Given the description of an element on the screen output the (x, y) to click on. 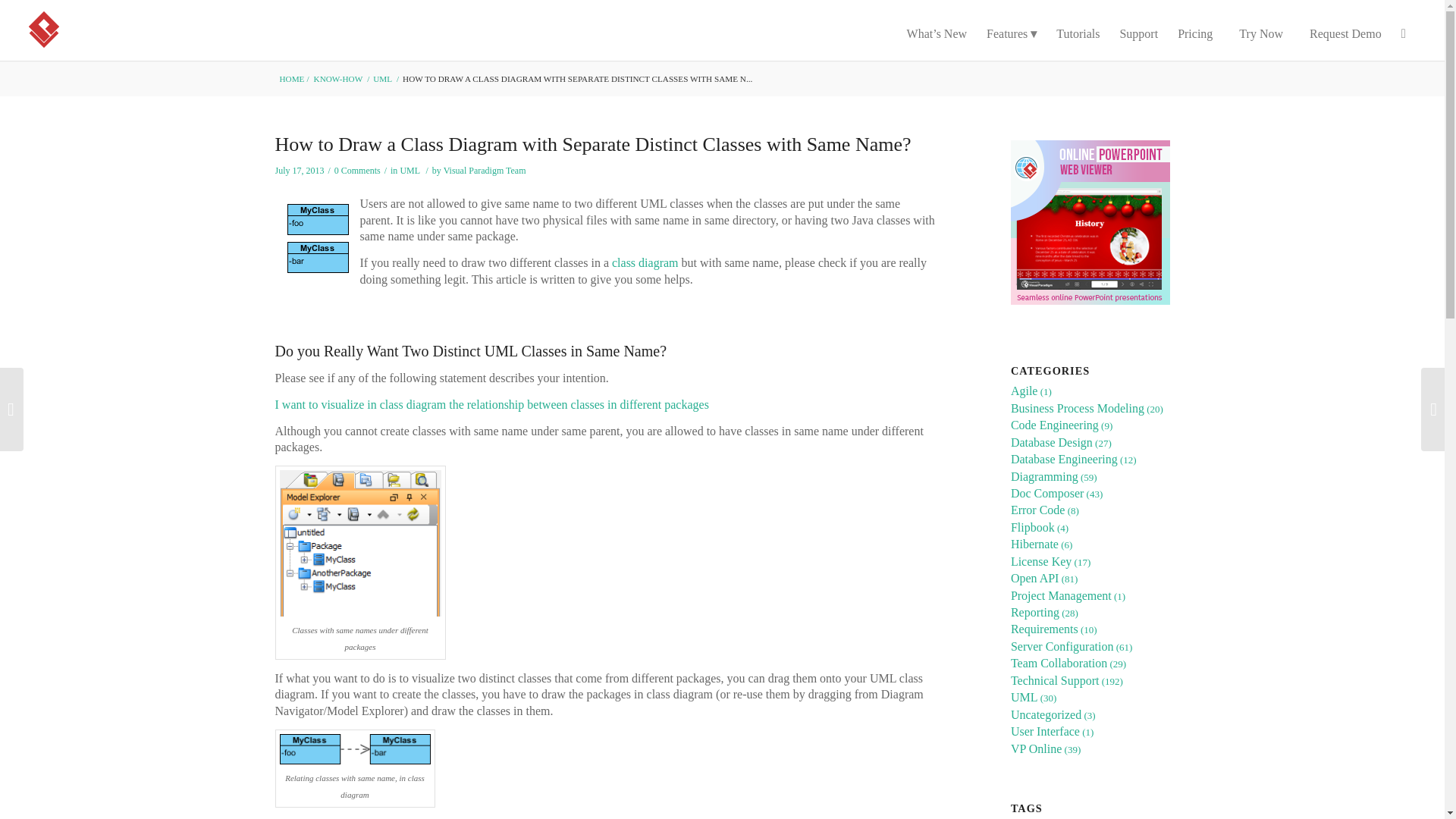
UML (408, 170)
HOME (292, 79)
Visual Paradigm Know-how (338, 79)
Pricing (1195, 30)
0 Comments (357, 170)
Visual Paradigm Team (484, 170)
Support (1138, 30)
Tutorials (1077, 30)
KNOW-HOW (338, 79)
